Given the description of an element on the screen output the (x, y) to click on. 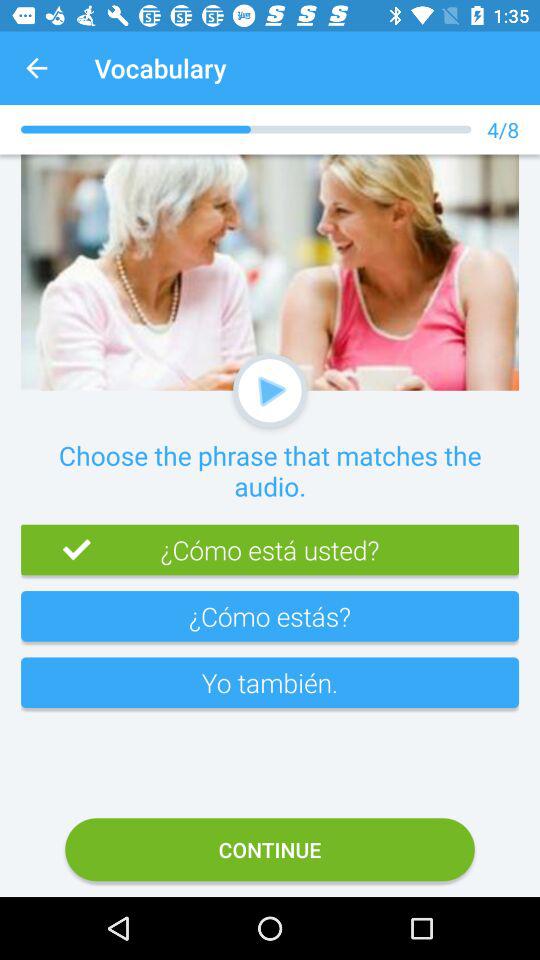
turn off app next to vocabulary icon (36, 68)
